Given the description of an element on the screen output the (x, y) to click on. 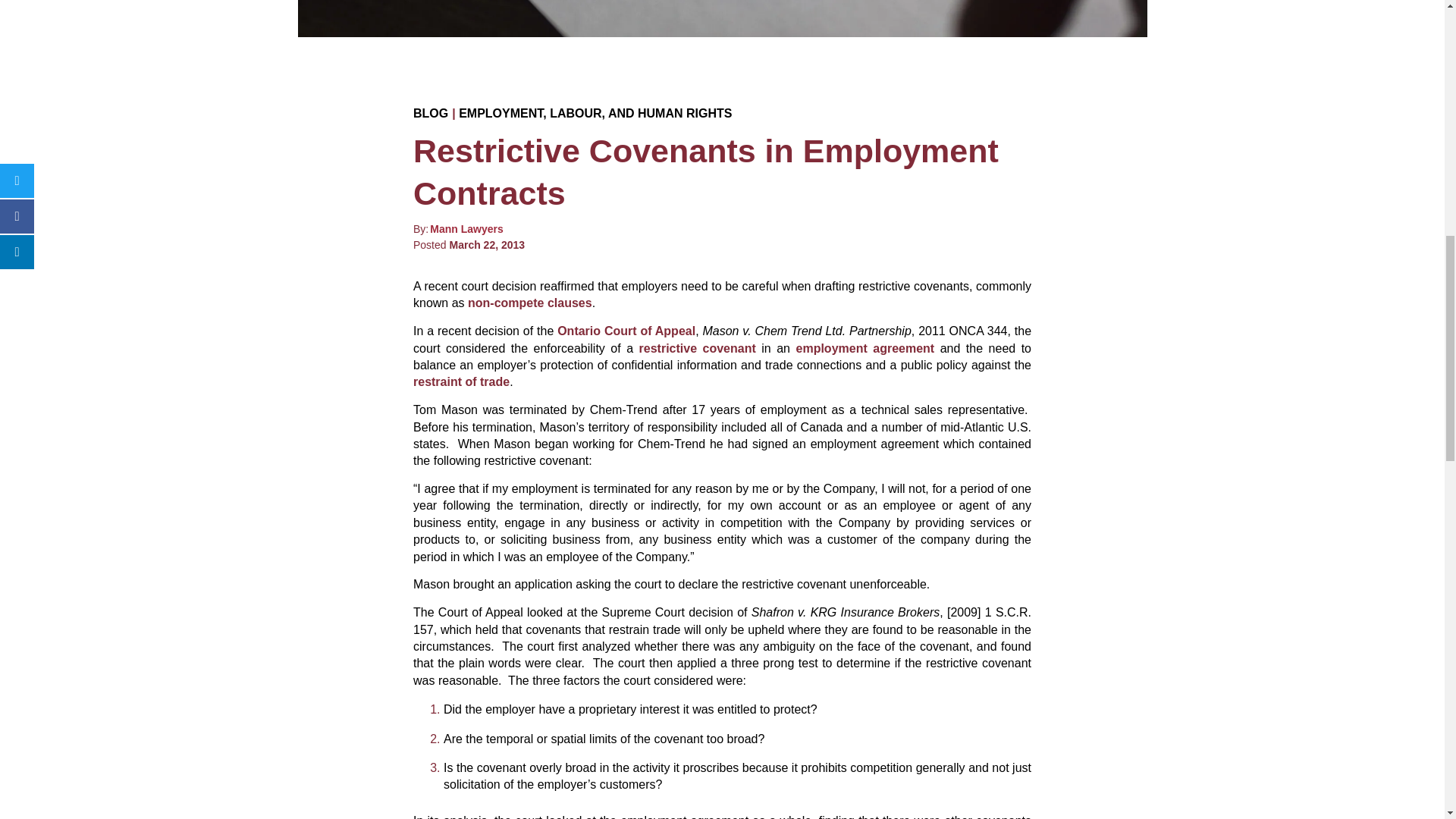
Restrictive covenant (697, 348)
Restraint of trade (461, 381)
Non-compete clause (529, 302)
Employment contract (865, 348)
Court of Appeal for Ontario (626, 330)
